Given the description of an element on the screen output the (x, y) to click on. 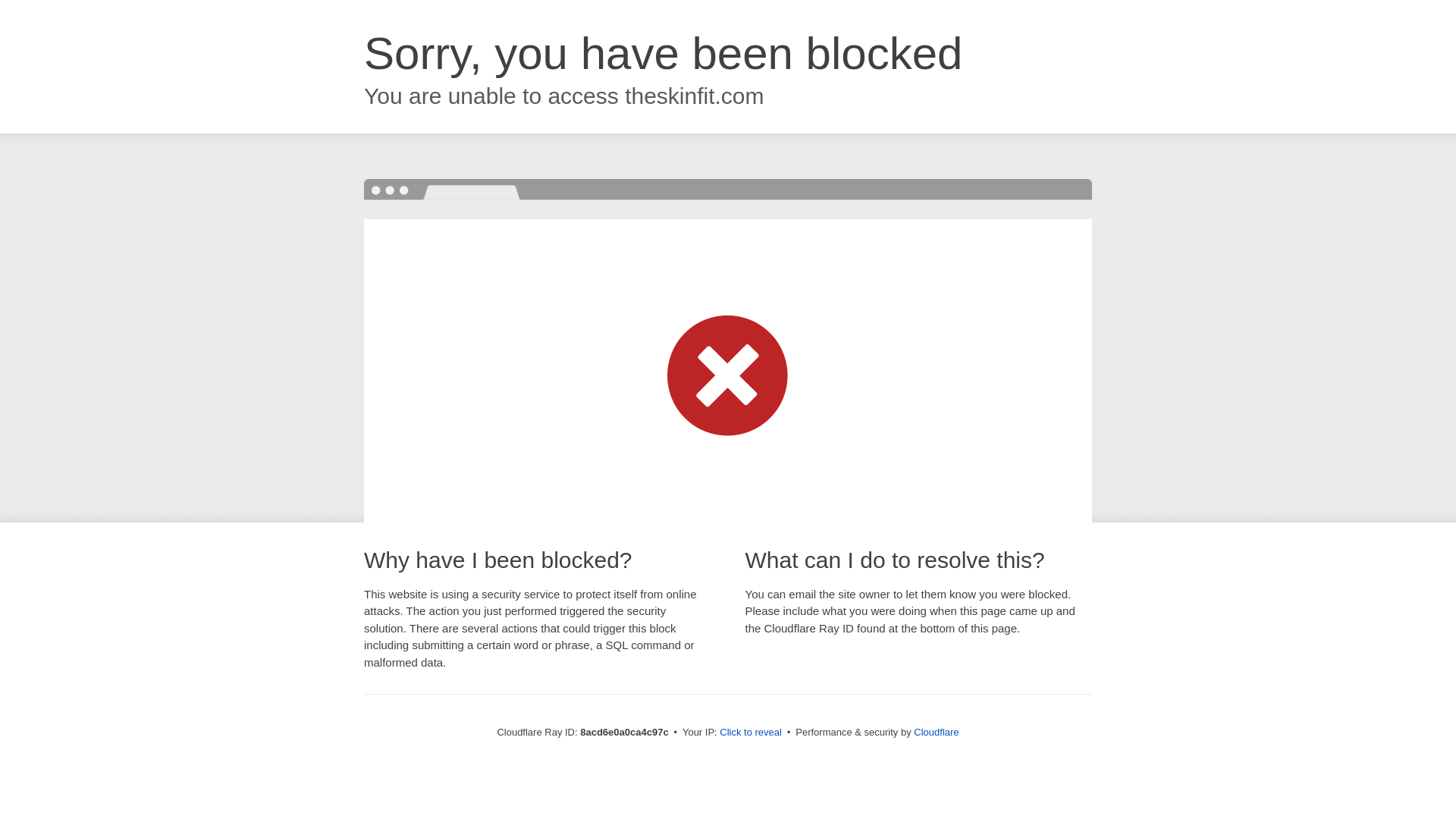
Cloudflare (936, 731)
Click to reveal (750, 732)
